Given the description of an element on the screen output the (x, y) to click on. 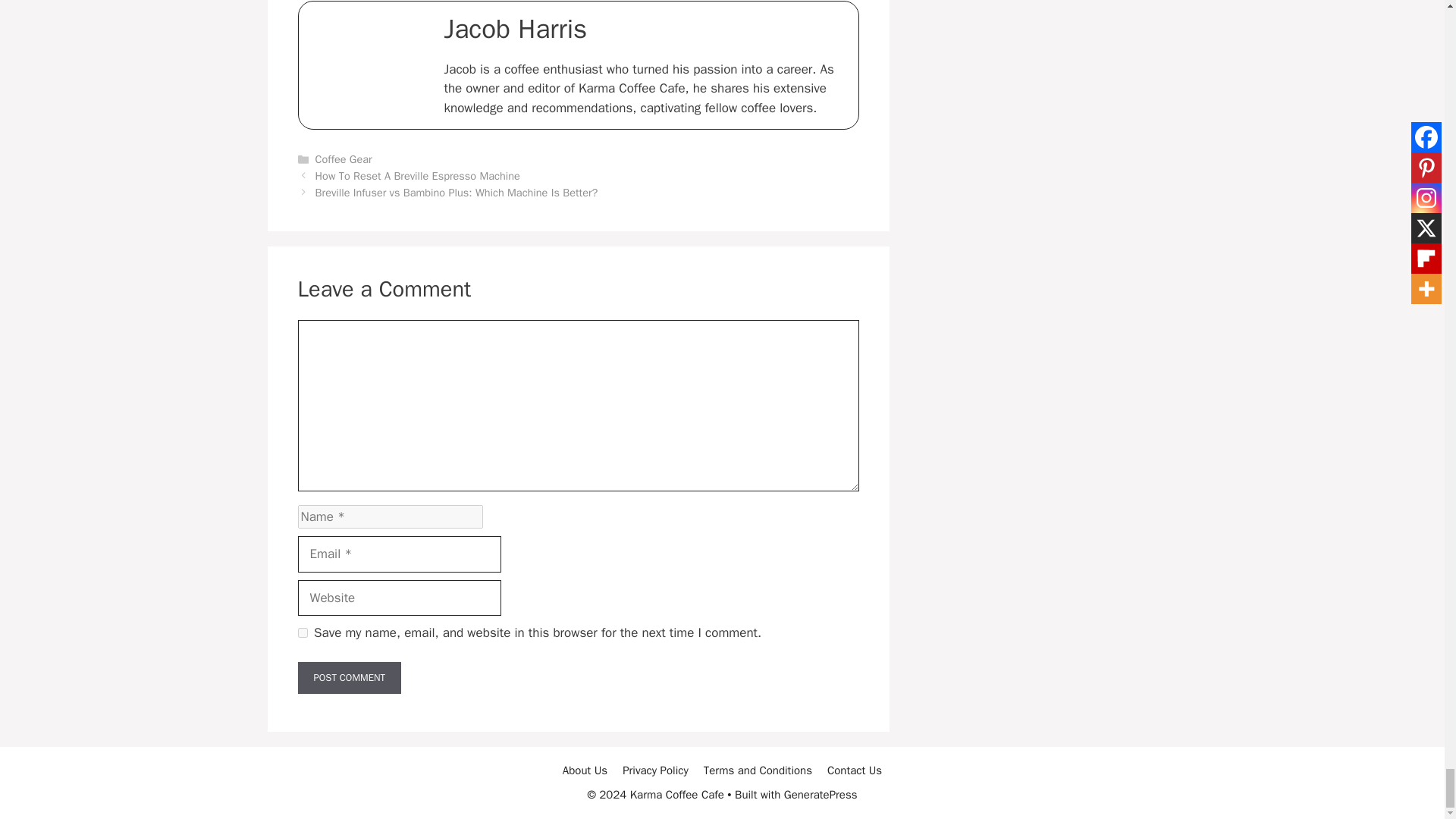
Post Comment (349, 677)
yes (302, 633)
